Given the description of an element on the screen output the (x, y) to click on. 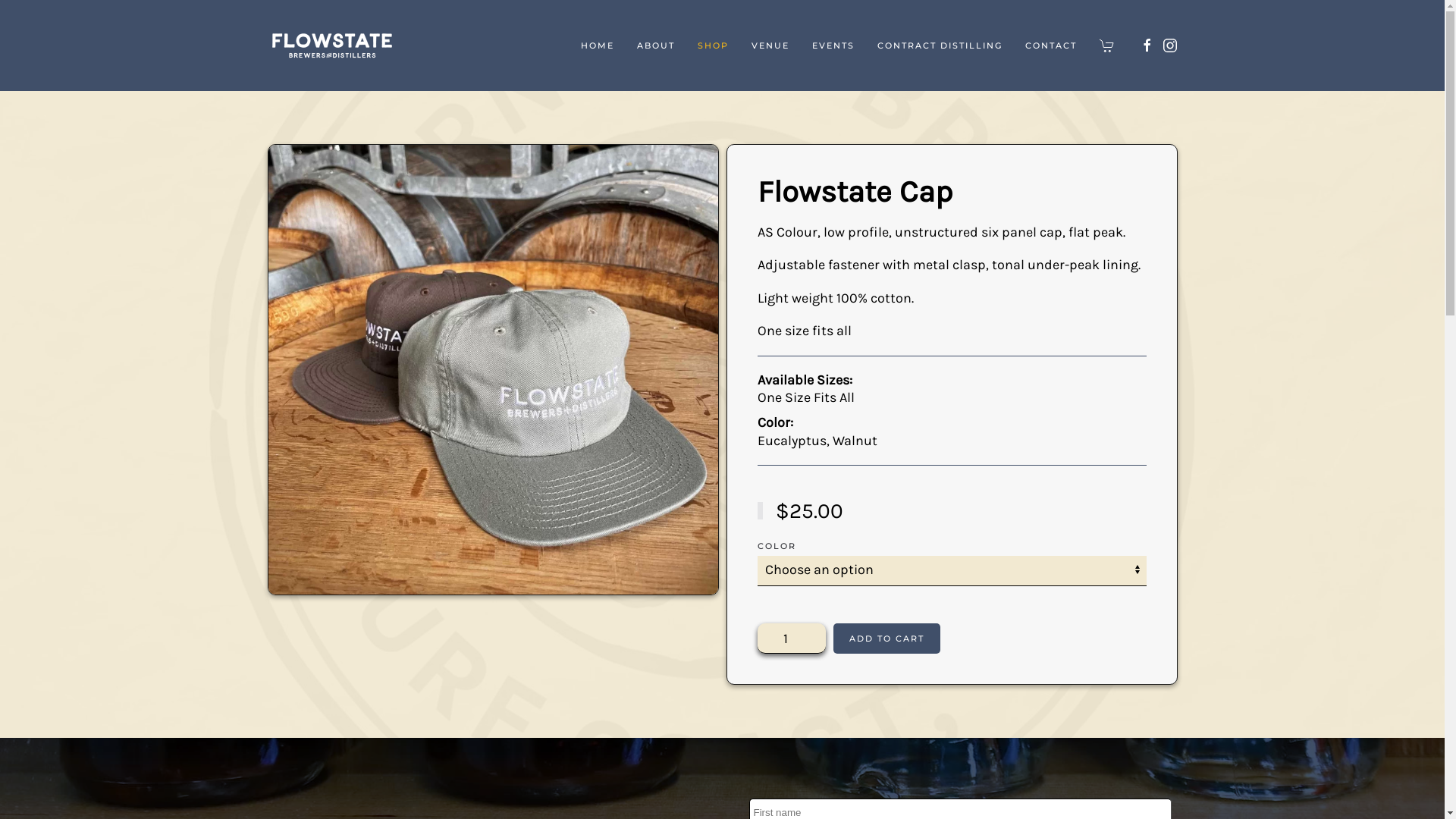
CONTACT Element type: text (1050, 45)
ADD TO CART Element type: text (885, 638)
CONTRACT DISTILLING Element type: text (939, 45)
HOME Element type: text (597, 45)
ABOUT Element type: text (655, 45)
VENUE Element type: text (770, 45)
EVENTS Element type: text (833, 45)
SHOP Element type: text (712, 45)
